Given the description of an element on the screen output the (x, y) to click on. 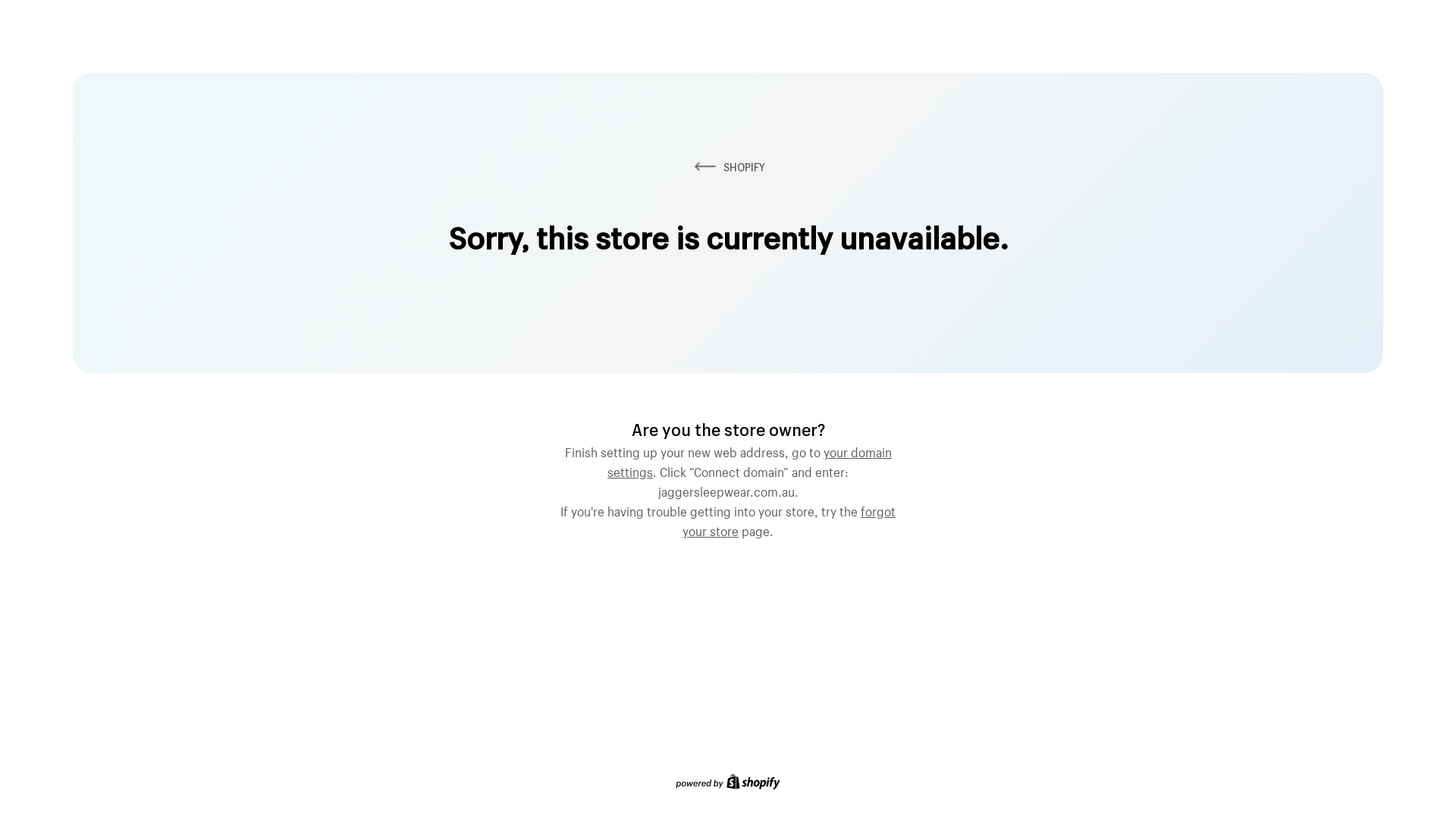
your domain settings Element type: text (749, 460)
SHOPIFY Element type: text (727, 167)
forgot your store Element type: text (788, 519)
